Given the description of an element on the screen output the (x, y) to click on. 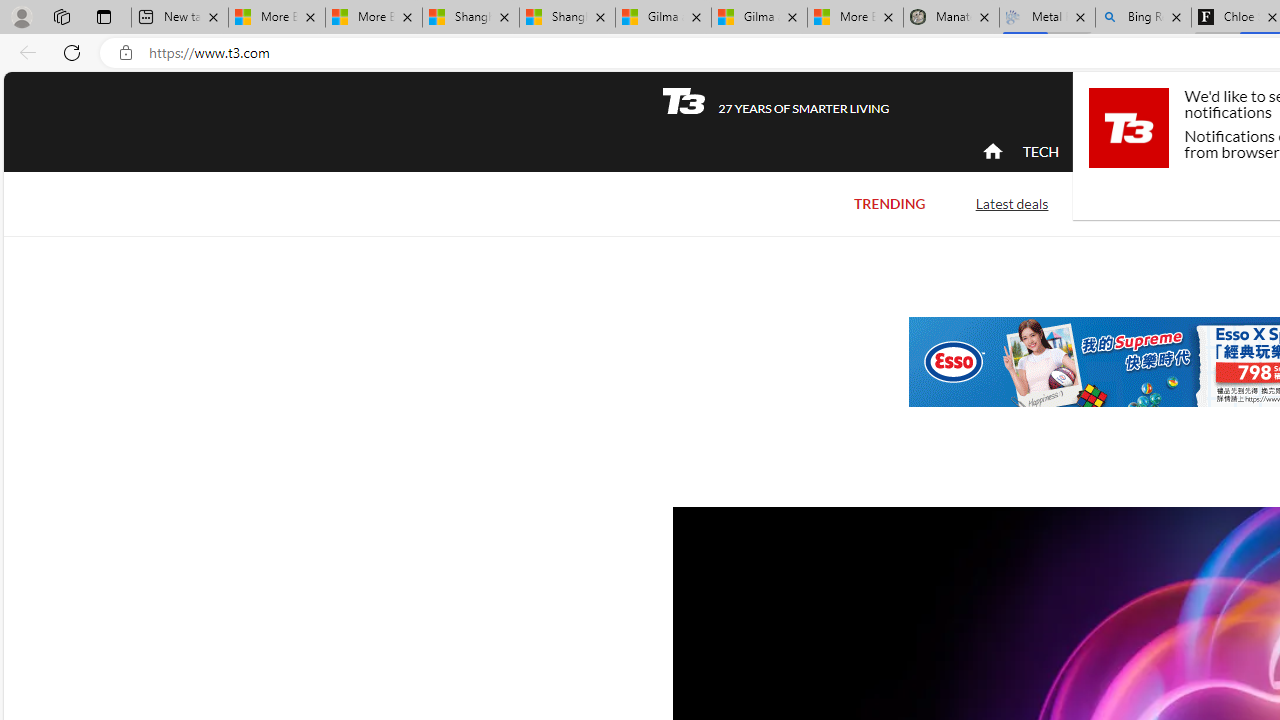
ACTIVE (1124, 151)
Class: navigation__item (990, 151)
TECH (1040, 151)
HOME LIVING (1233, 151)
HOME LIVING (1233, 151)
T3 27 YEARS OF SMARTER LIVING (775, 101)
ACTIVE (1124, 151)
